Given the description of an element on the screen output the (x, y) to click on. 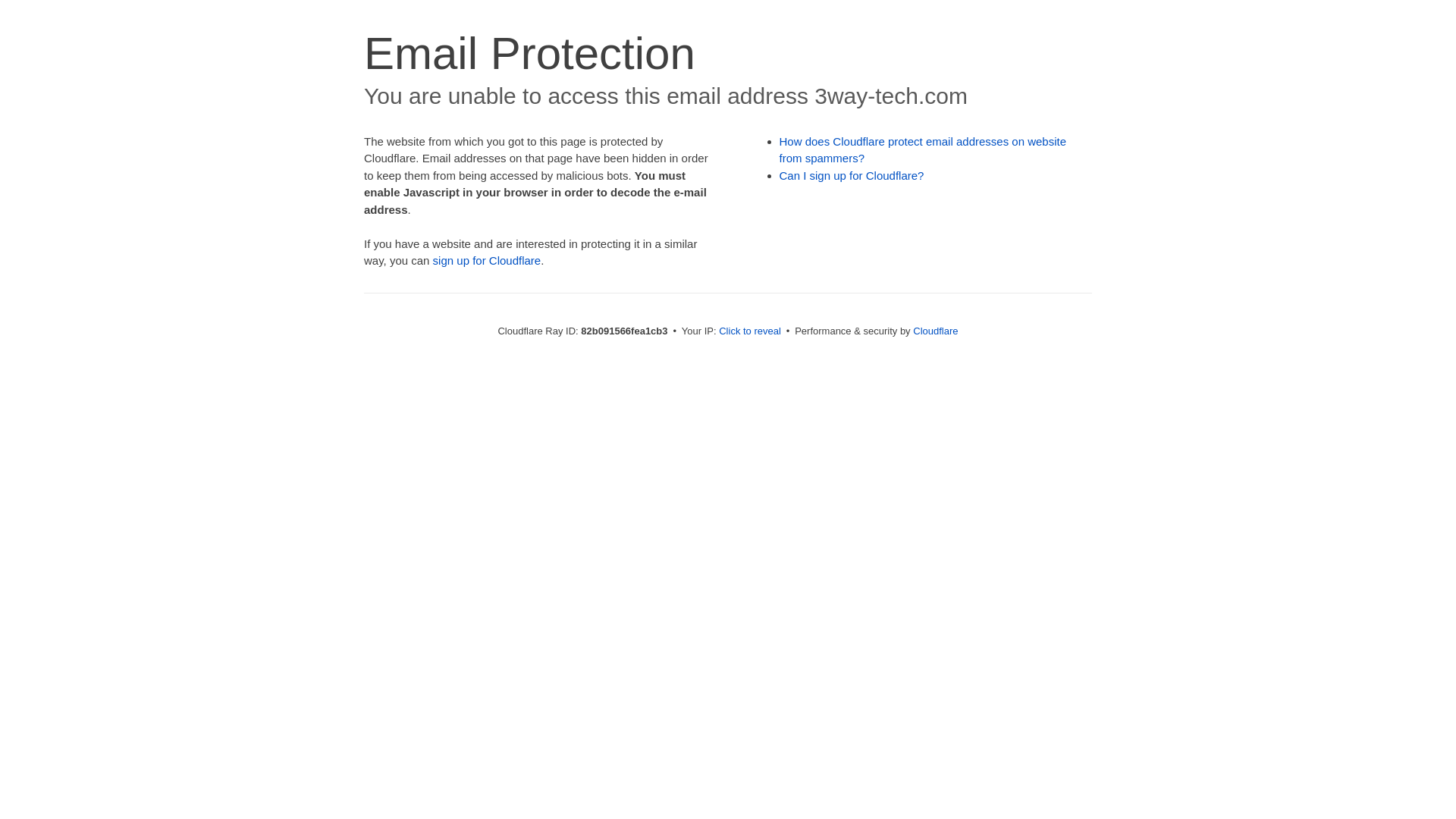
Cloudflare Element type: text (935, 330)
Click to reveal Element type: text (749, 330)
sign up for Cloudflare Element type: text (487, 260)
Can I sign up for Cloudflare? Element type: text (851, 175)
